Given the description of an element on the screen output the (x, y) to click on. 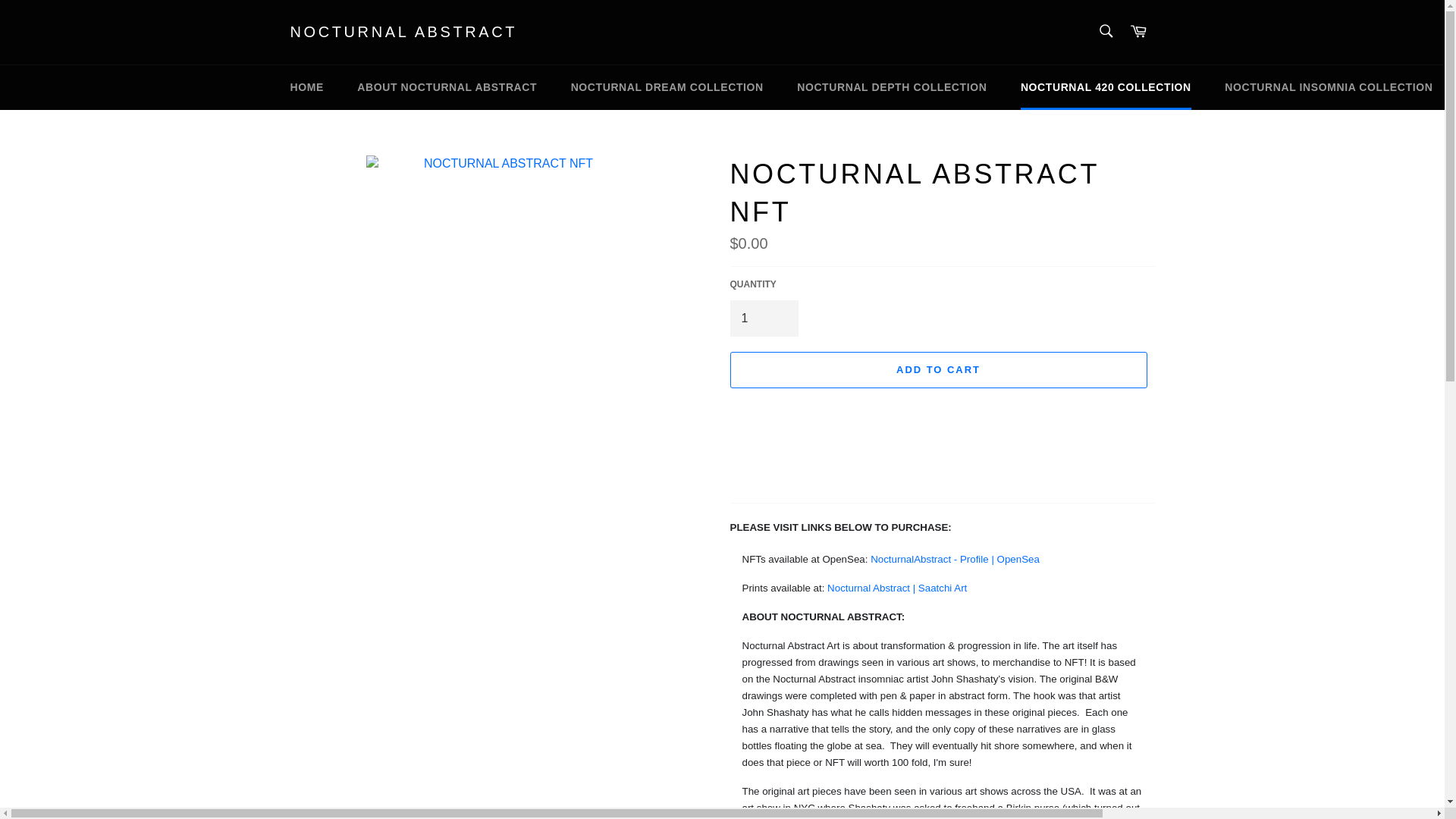
HOME (306, 87)
Search (1104, 30)
NOCTURNAL DREAM COLLECTION (667, 87)
NOCTURNAL DEPTH COLLECTION (891, 87)
ADD TO CART (938, 370)
NOCTURNAL 420 COLLECTION (1106, 87)
NOCTURNAL ABSTRACT (402, 32)
1 (763, 318)
NOCTURNAL INSOMNIA COLLECTION (1328, 87)
ABOUT NOCTURNAL ABSTRACT (446, 87)
Cart (1138, 32)
